Given the description of an element on the screen output the (x, y) to click on. 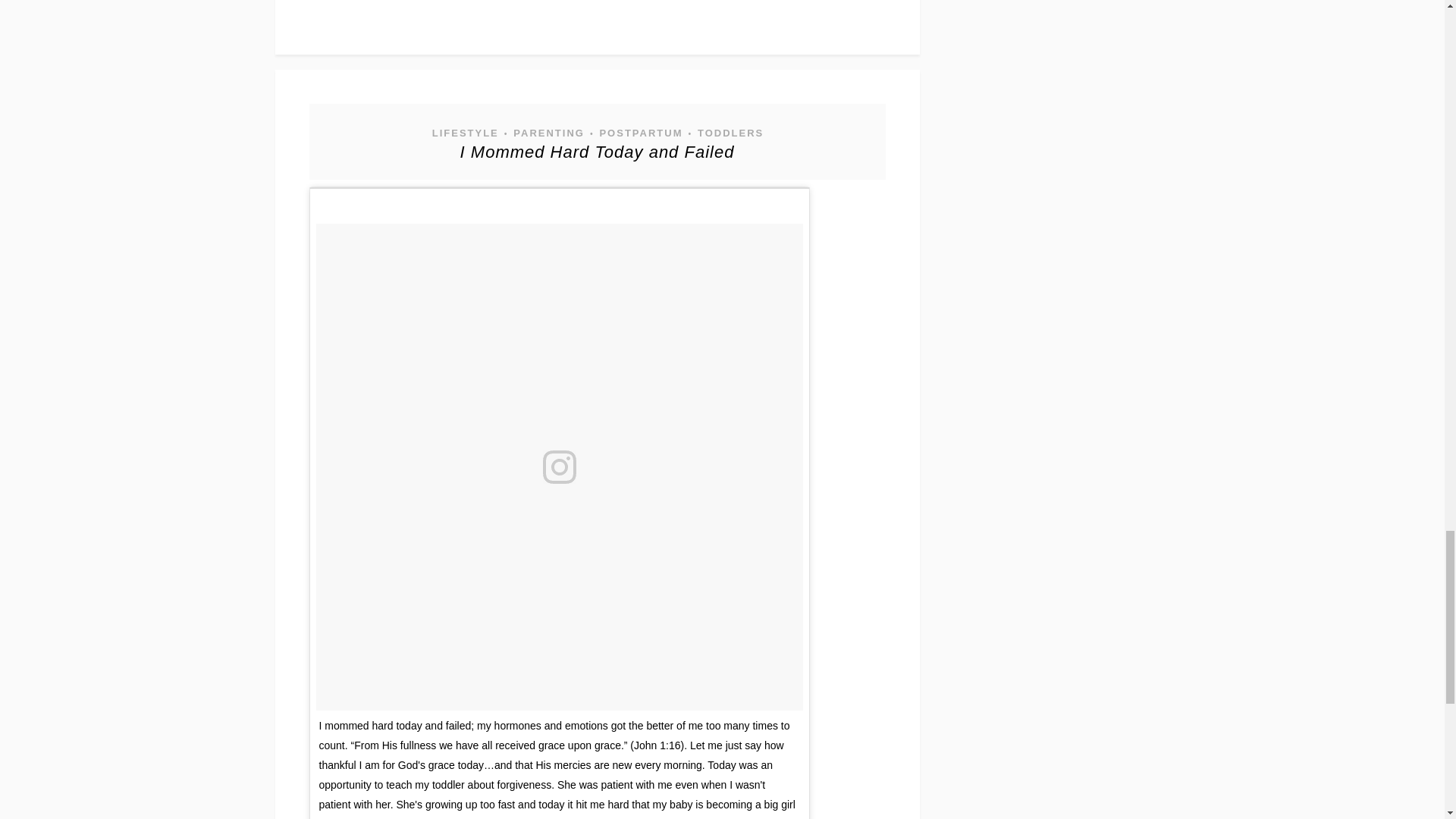
POSTPARTUM (639, 133)
Permanent (597, 151)
PARENTING (547, 133)
LIFESTYLE (464, 133)
I Mommed Hard Today and Failed (597, 151)
TODDLERS (729, 133)
